Given the description of an element on the screen output the (x, y) to click on. 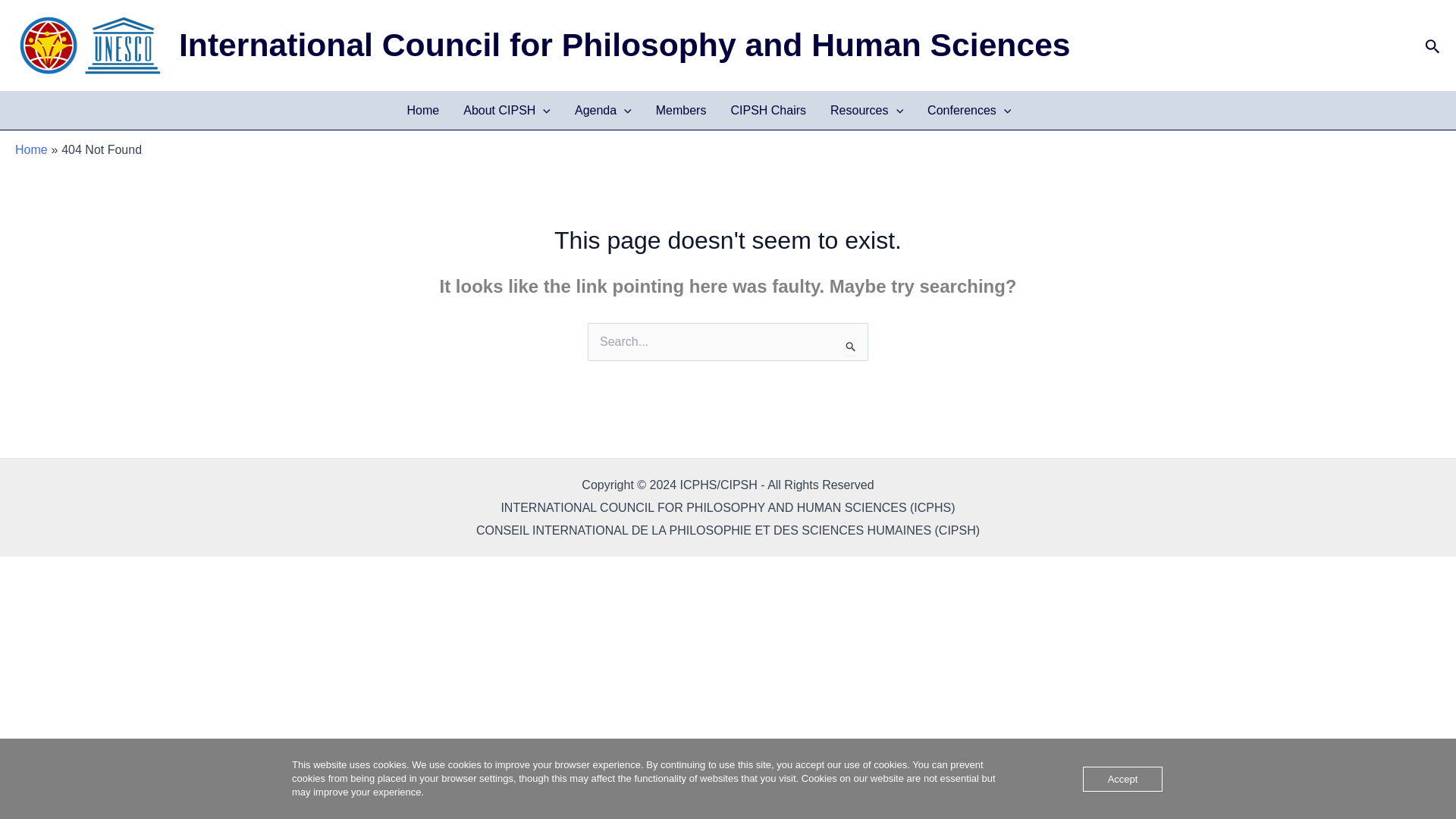
International Council for Philosophy and Human Sciences (624, 44)
CIPSH Chairs (767, 110)
Resources (866, 110)
Members (681, 110)
Agenda (602, 110)
Home (422, 110)
Conferences (969, 110)
About CIPSH (506, 110)
